Given the description of an element on the screen output the (x, y) to click on. 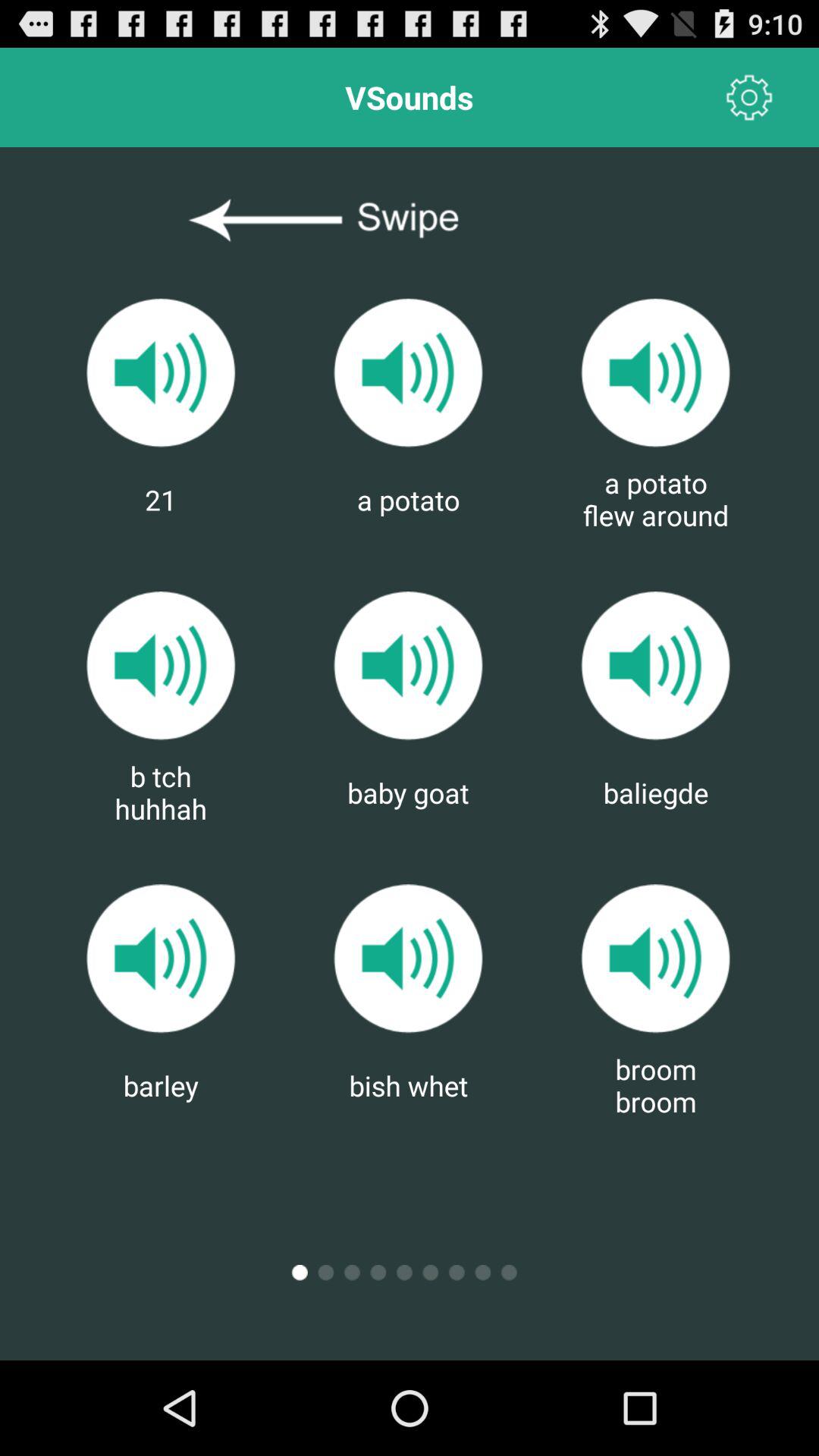
swipe (409, 220)
